Given the description of an element on the screen output the (x, y) to click on. 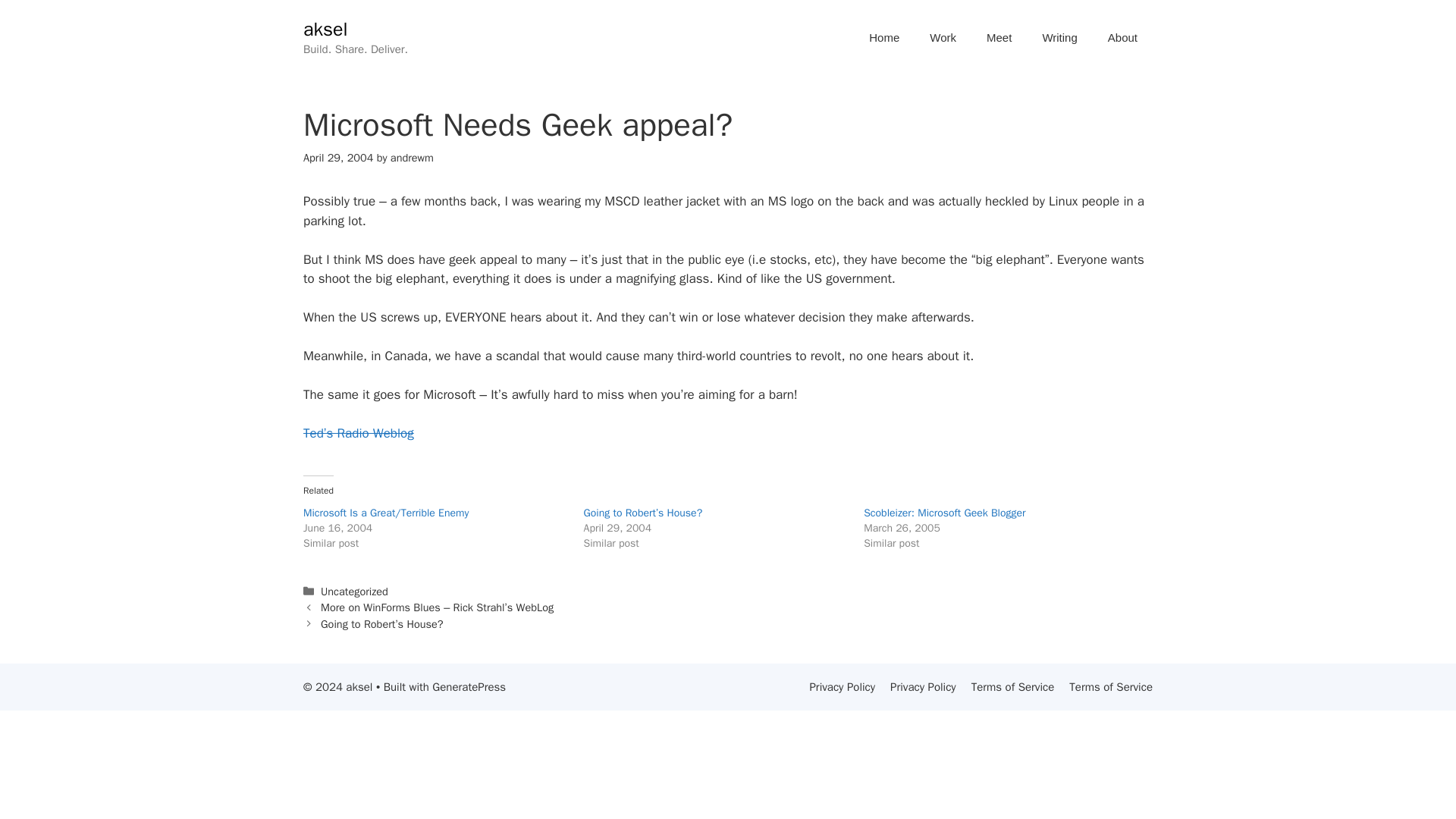
Privacy Policy (922, 686)
View all posts by andrewm (411, 157)
Home (883, 37)
Privacy Policy (842, 686)
Work (942, 37)
Writing (1059, 37)
Terms of Service (1012, 686)
Previous (436, 607)
GeneratePress (468, 686)
aksel (324, 28)
